Given the description of an element on the screen output the (x, y) to click on. 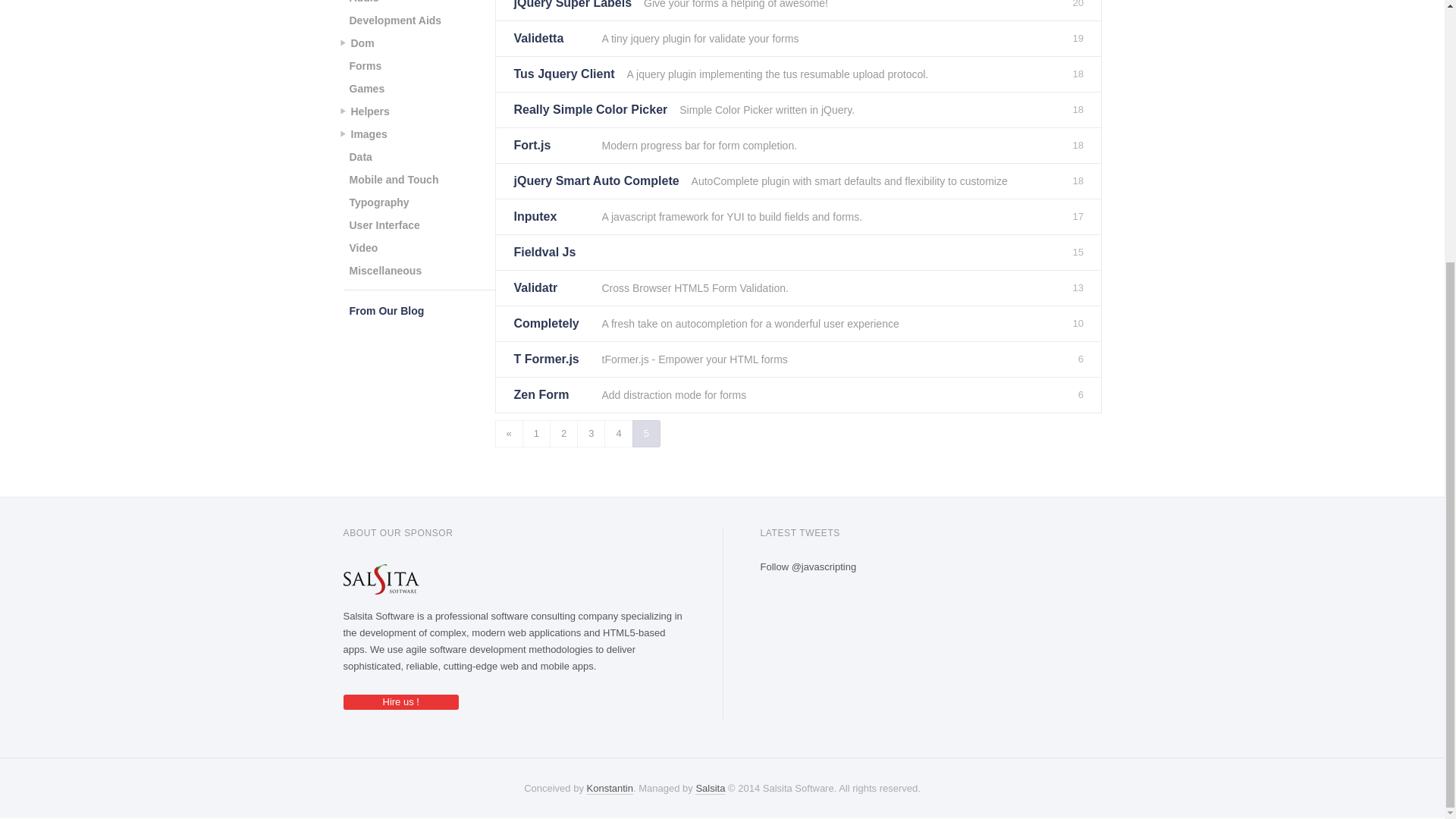
Audio (363, 4)
Fort.js (551, 144)
Development Aids (394, 20)
Games (366, 87)
Typography (378, 201)
Tus Jquery Client (563, 73)
Data (359, 156)
Miscellaneous (385, 270)
jQuery Super Labels (572, 10)
Really Simple Color Picker (590, 109)
Forms (364, 65)
Video (363, 247)
User Interface (383, 224)
Mobile and Touch (393, 179)
Validetta (551, 38)
